Given the description of an element on the screen output the (x, y) to click on. 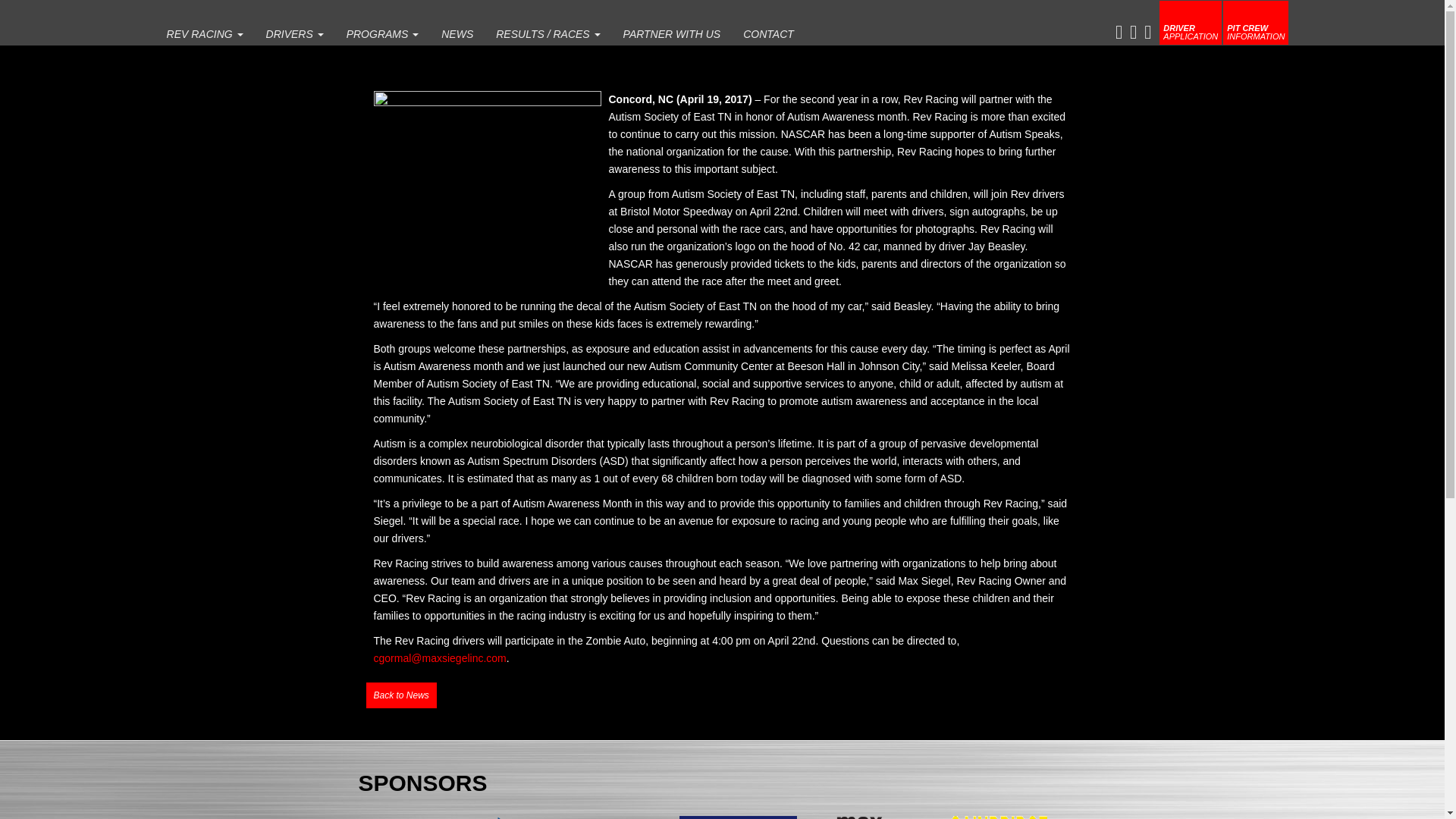
PROGRAMS (382, 30)
NEWS (456, 30)
Drivers (294, 30)
Rev Racing (204, 30)
DRIVERS (294, 30)
REV RACING (204, 30)
